Given the description of an element on the screen output the (x, y) to click on. 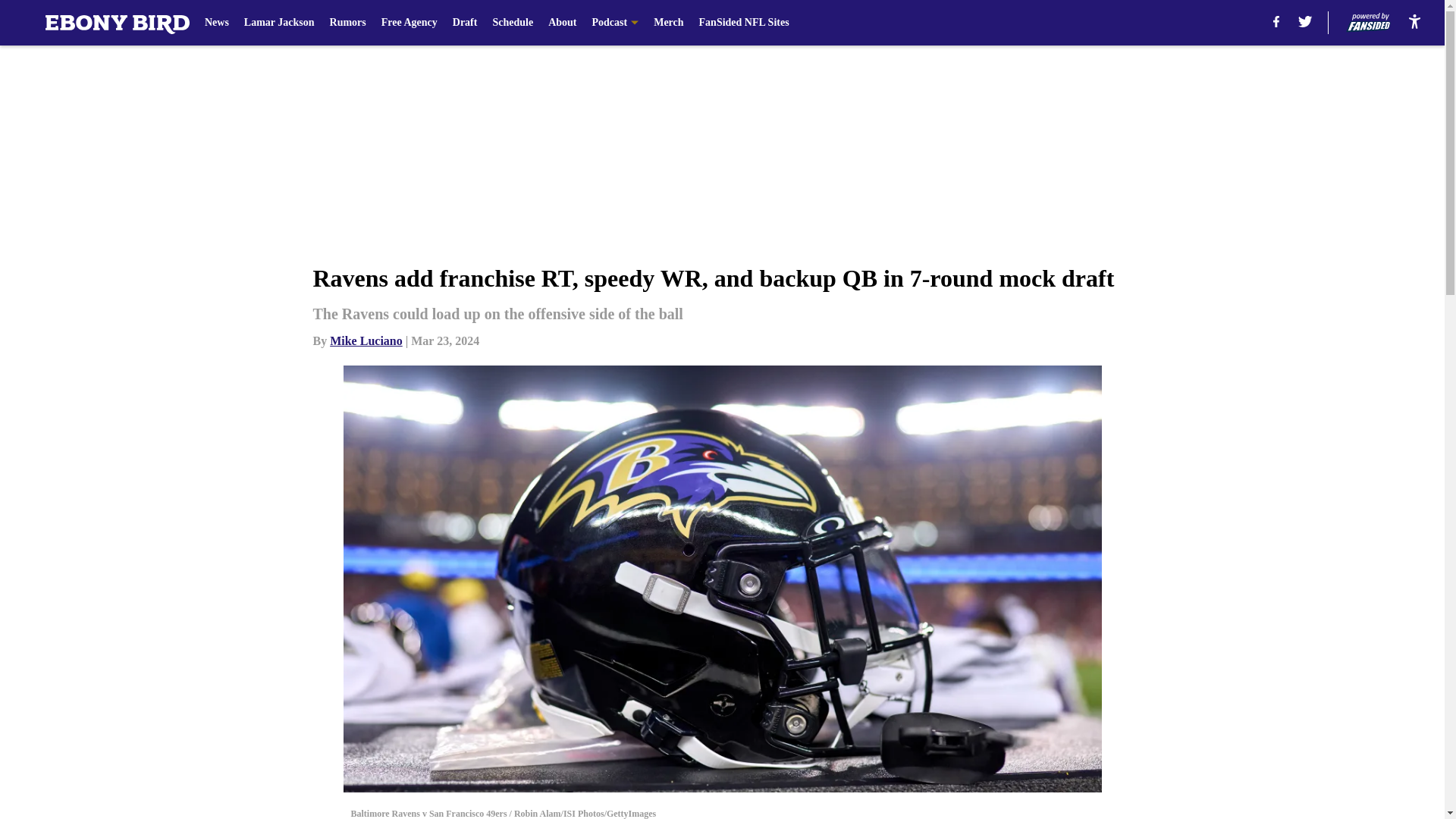
Mike Luciano (366, 340)
Lamar Jackson (279, 22)
Draft (464, 22)
Schedule (512, 22)
Free Agency (409, 22)
Merch (667, 22)
Rumors (348, 22)
FanSided NFL Sites (743, 22)
News (216, 22)
